Given the description of an element on the screen output the (x, y) to click on. 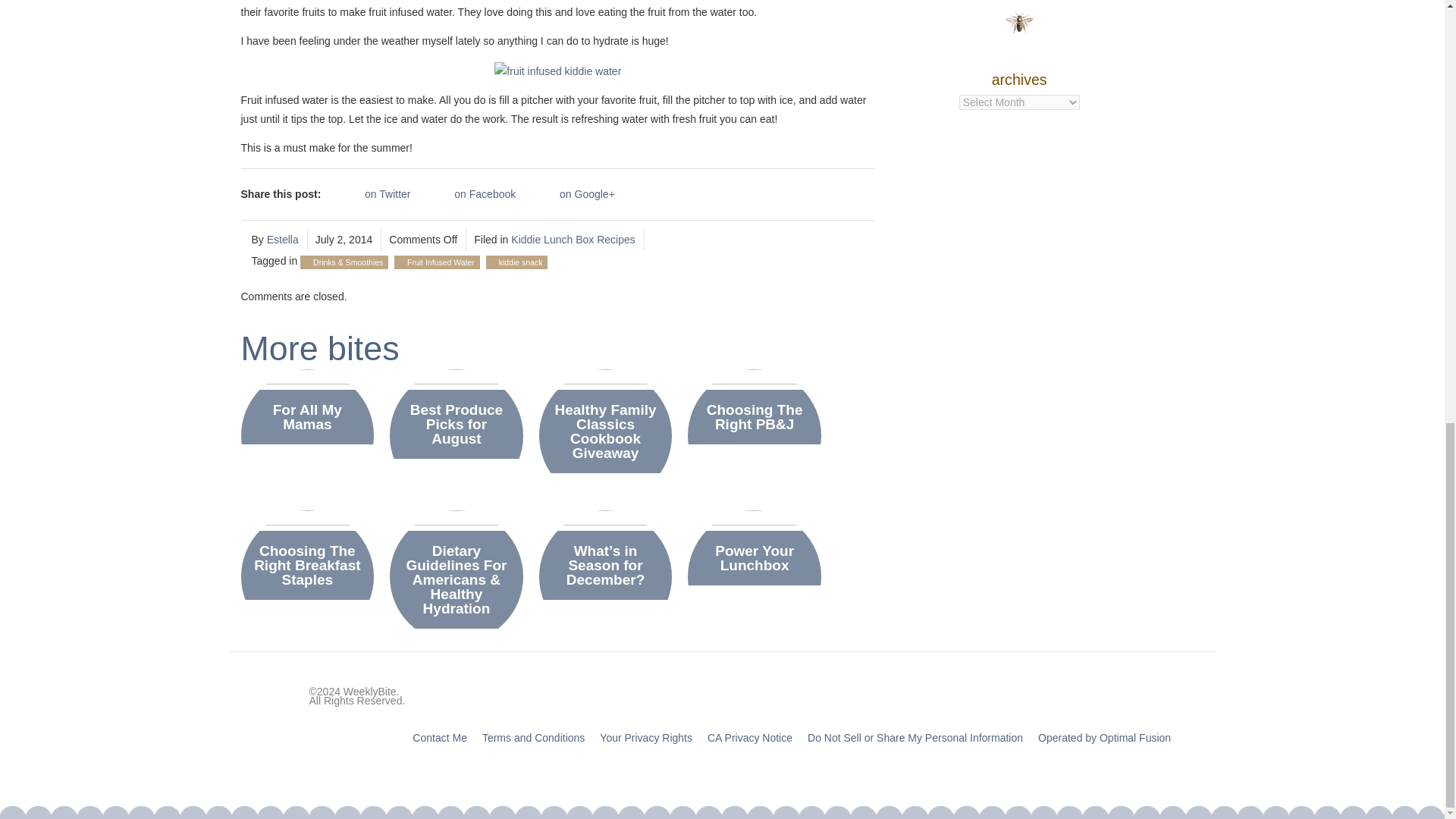
Your Privacy Rights (646, 737)
kiddie snack (521, 261)
Best Produce Picks for August (457, 423)
Posts by Estella (282, 239)
Estella (282, 239)
on Facebook (468, 194)
Power Your Lunchbox (754, 557)
Recipes (615, 239)
For All My Mamas (307, 416)
Fruit Infused Kiddie Water (558, 71)
